Given the description of an element on the screen output the (x, y) to click on. 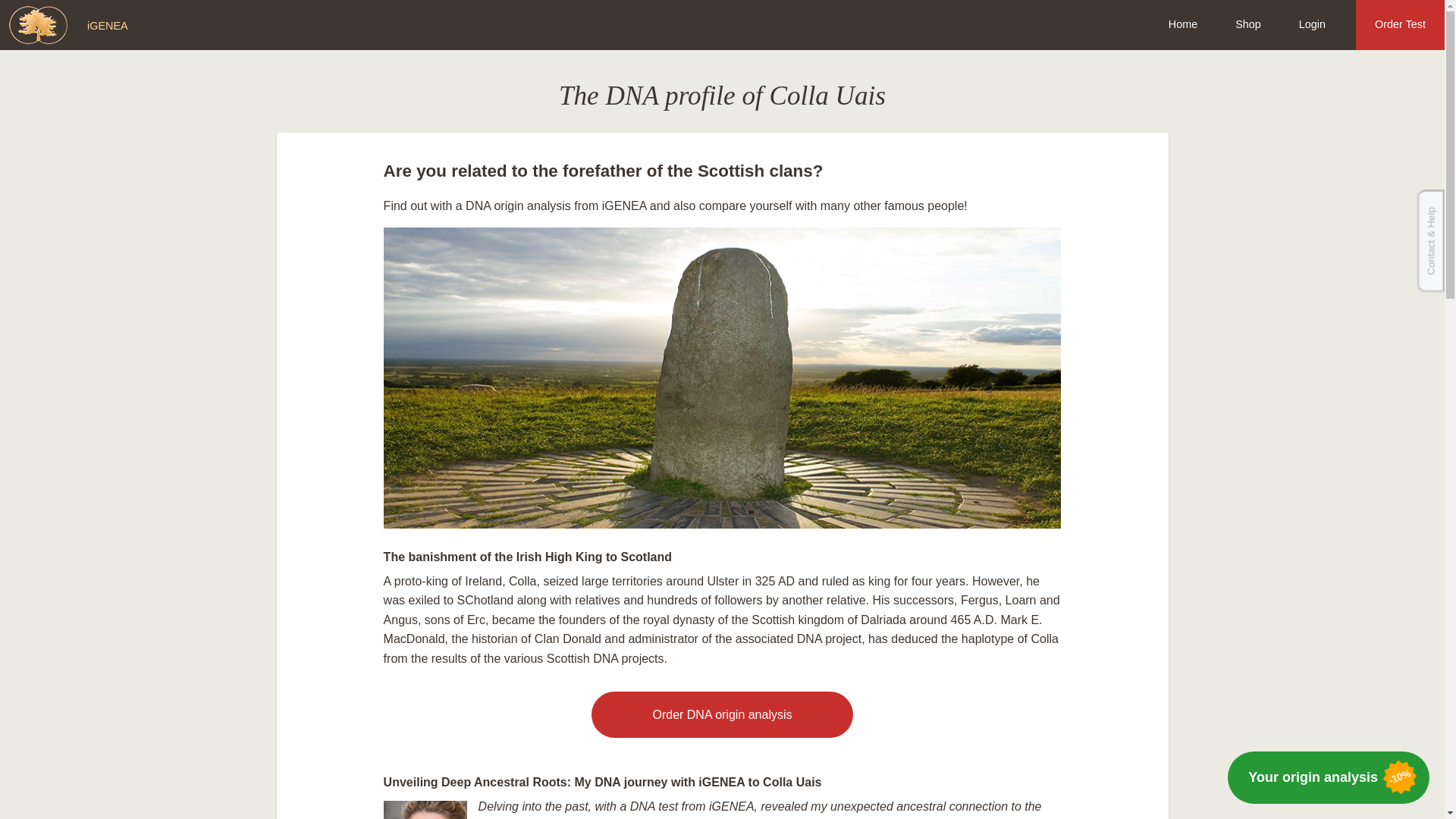
Shop (1247, 24)
Login (1311, 24)
Order DNA origin analysis (721, 714)
Home (1182, 24)
Order test kit (721, 714)
